Given the description of an element on the screen output the (x, y) to click on. 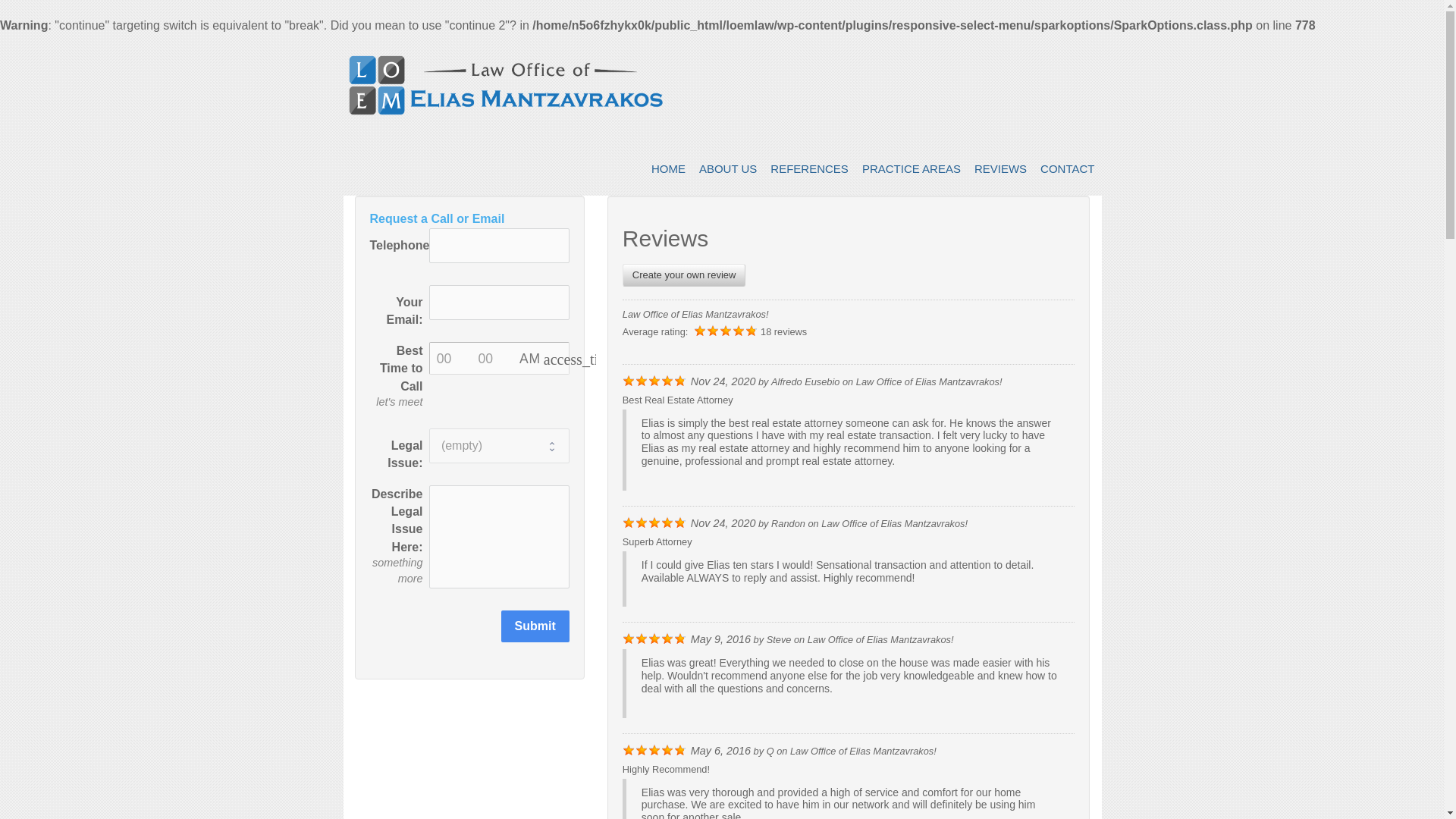
ABOUT US (727, 169)
am (533, 358)
REVIEWS (1000, 169)
PRACTICE AREAS (912, 169)
HOME (669, 169)
CONTACT (1066, 169)
REFERENCES (809, 169)
Submit (534, 626)
